Given the description of an element on the screen output the (x, y) to click on. 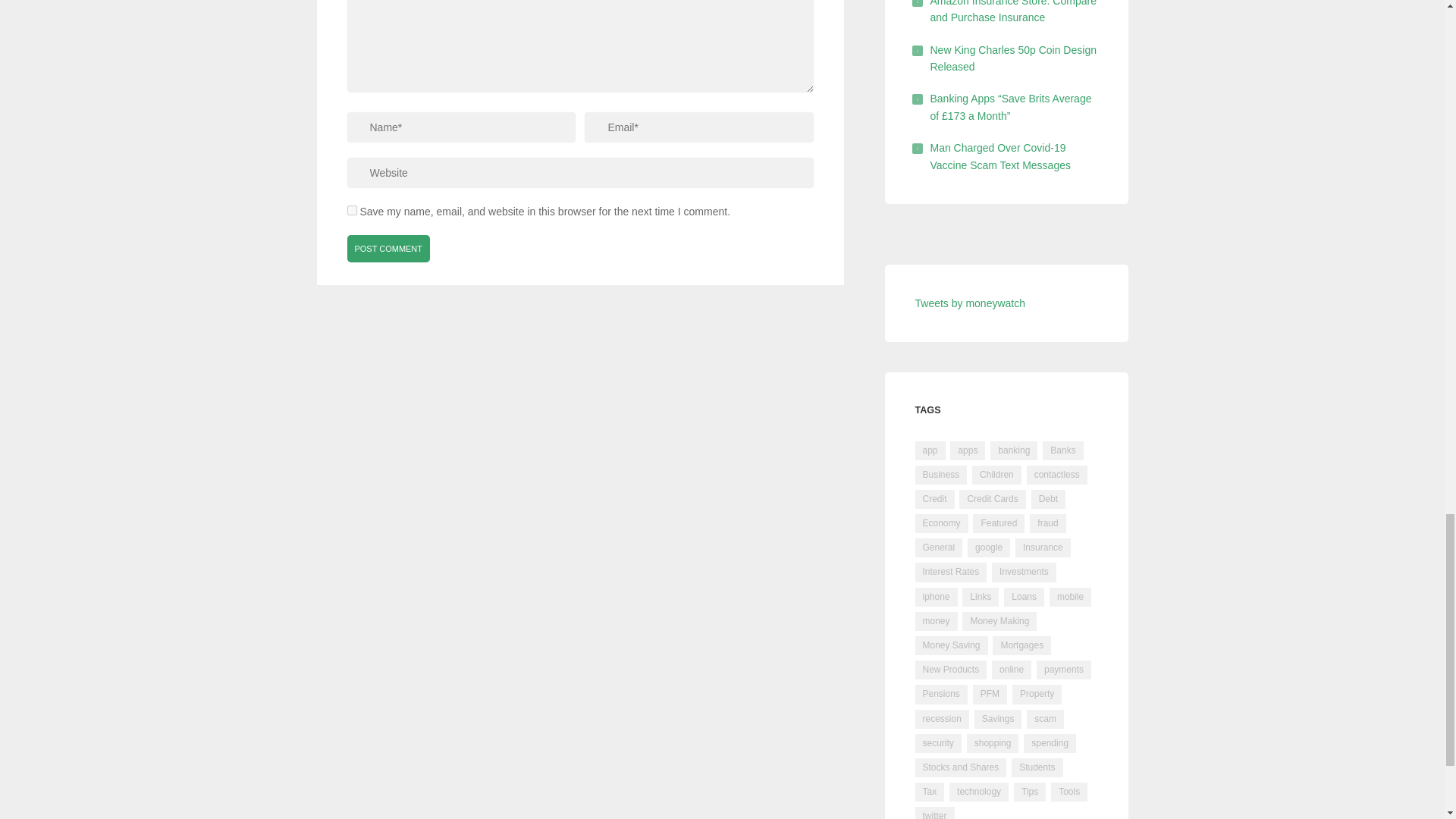
Amazon Insurance Store: Compare and Purchase Insurance (1013, 11)
Post Comment (388, 248)
yes (351, 210)
Post Comment (388, 248)
